Given the description of an element on the screen output the (x, y) to click on. 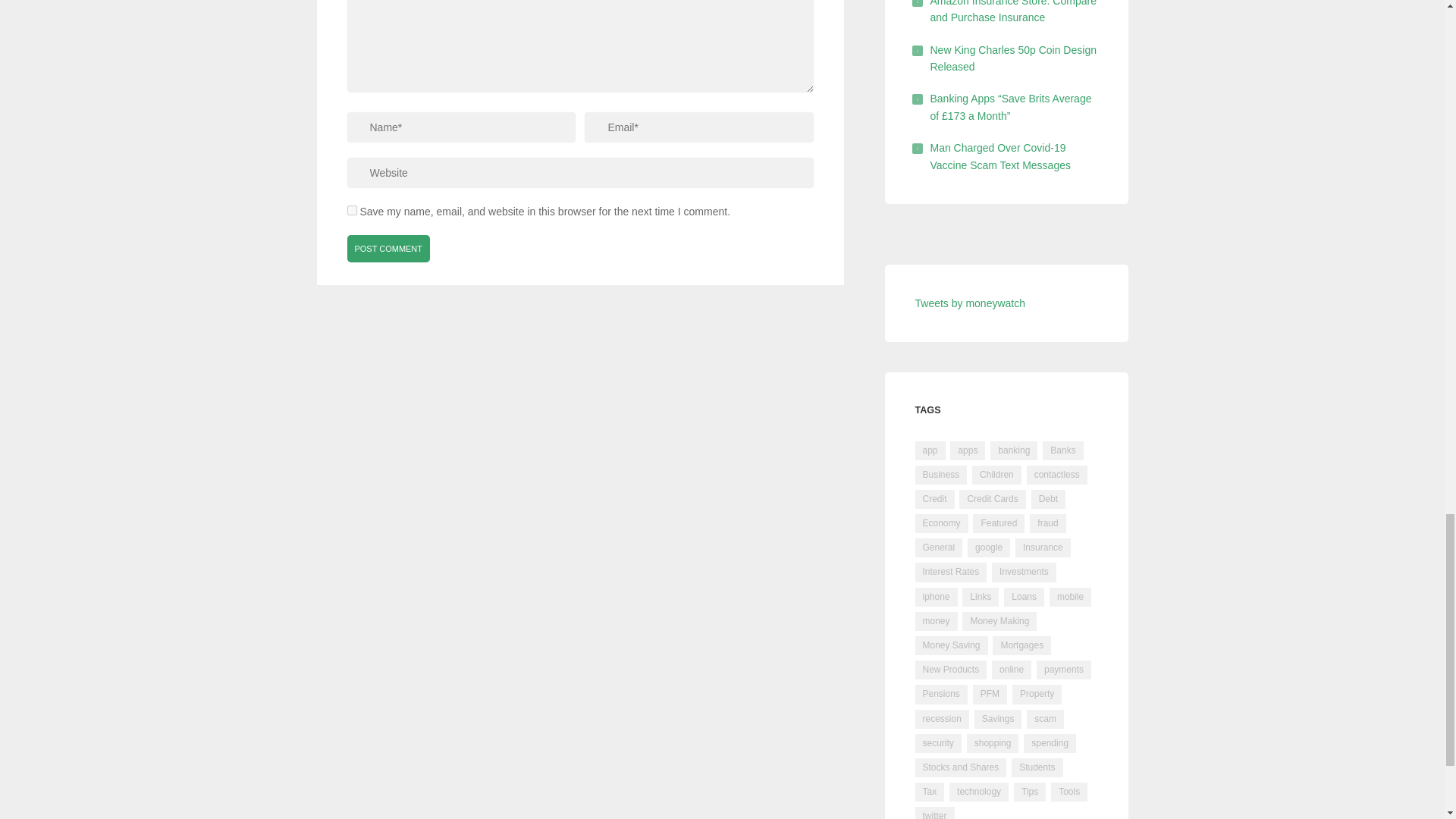
Amazon Insurance Store: Compare and Purchase Insurance (1013, 11)
Post Comment (388, 248)
yes (351, 210)
Post Comment (388, 248)
